Given the description of an element on the screen output the (x, y) to click on. 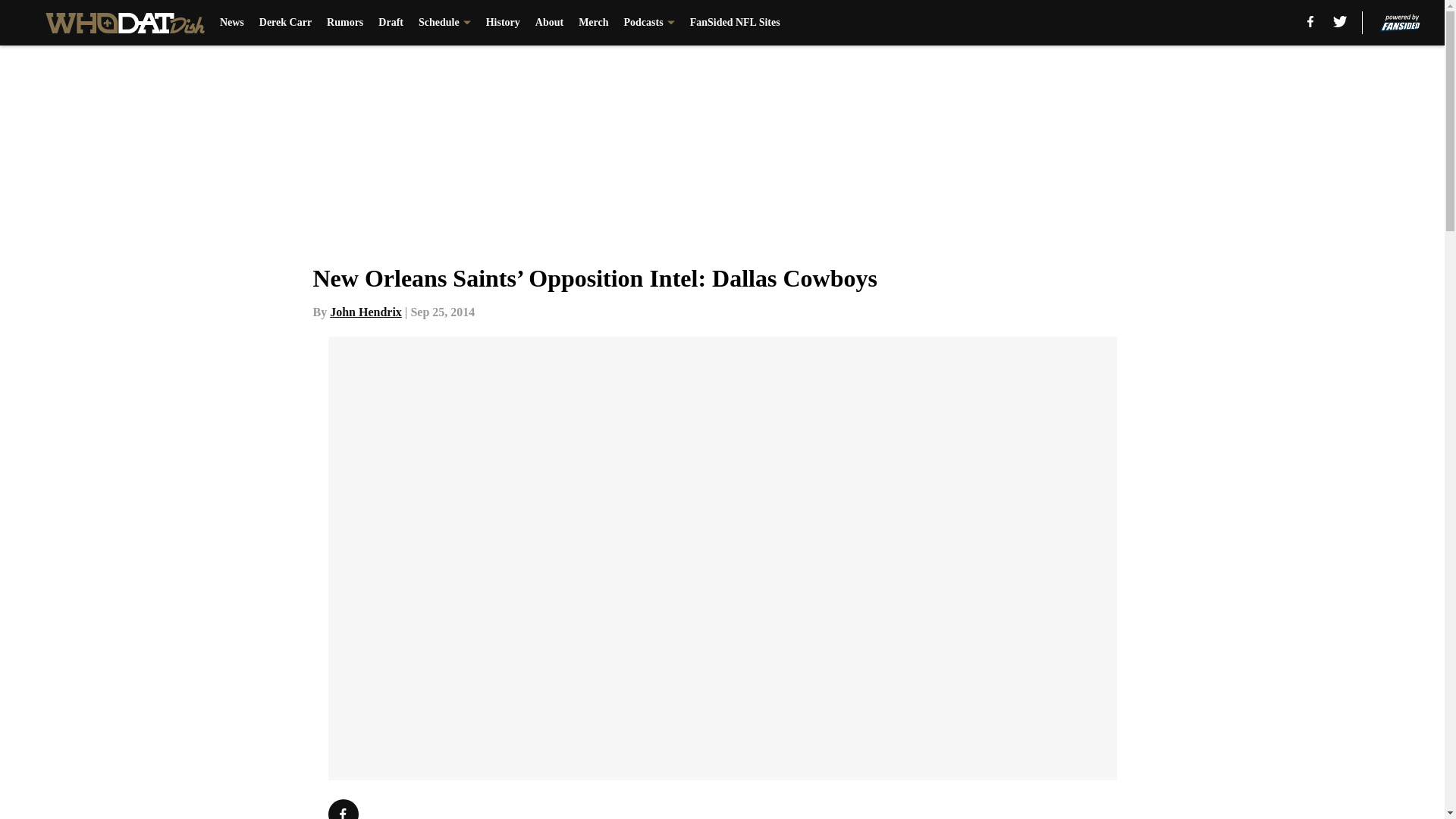
History (502, 22)
Rumors (344, 22)
Merch (593, 22)
Derek Carr (285, 22)
News (231, 22)
FanSided NFL Sites (735, 22)
About (549, 22)
Draft (390, 22)
John Hendrix (365, 311)
